Given the description of an element on the screen output the (x, y) to click on. 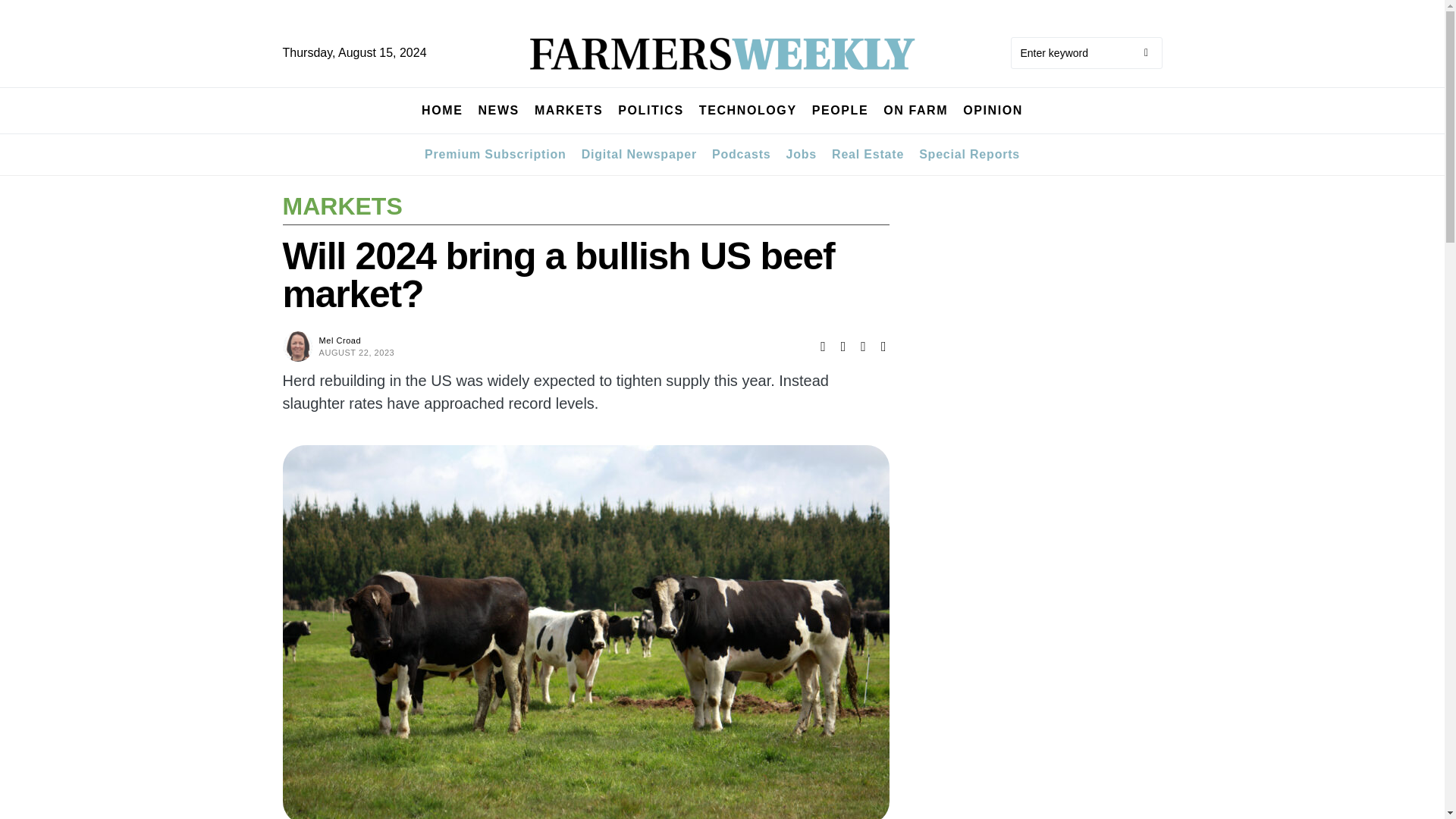
OPINION (992, 110)
ON FARM (915, 110)
MARKETS (568, 110)
NEWS (497, 110)
PEOPLE (840, 110)
HOME (442, 110)
TECHNOLOGY (747, 110)
POLITICS (650, 110)
